Given the description of an element on the screen output the (x, y) to click on. 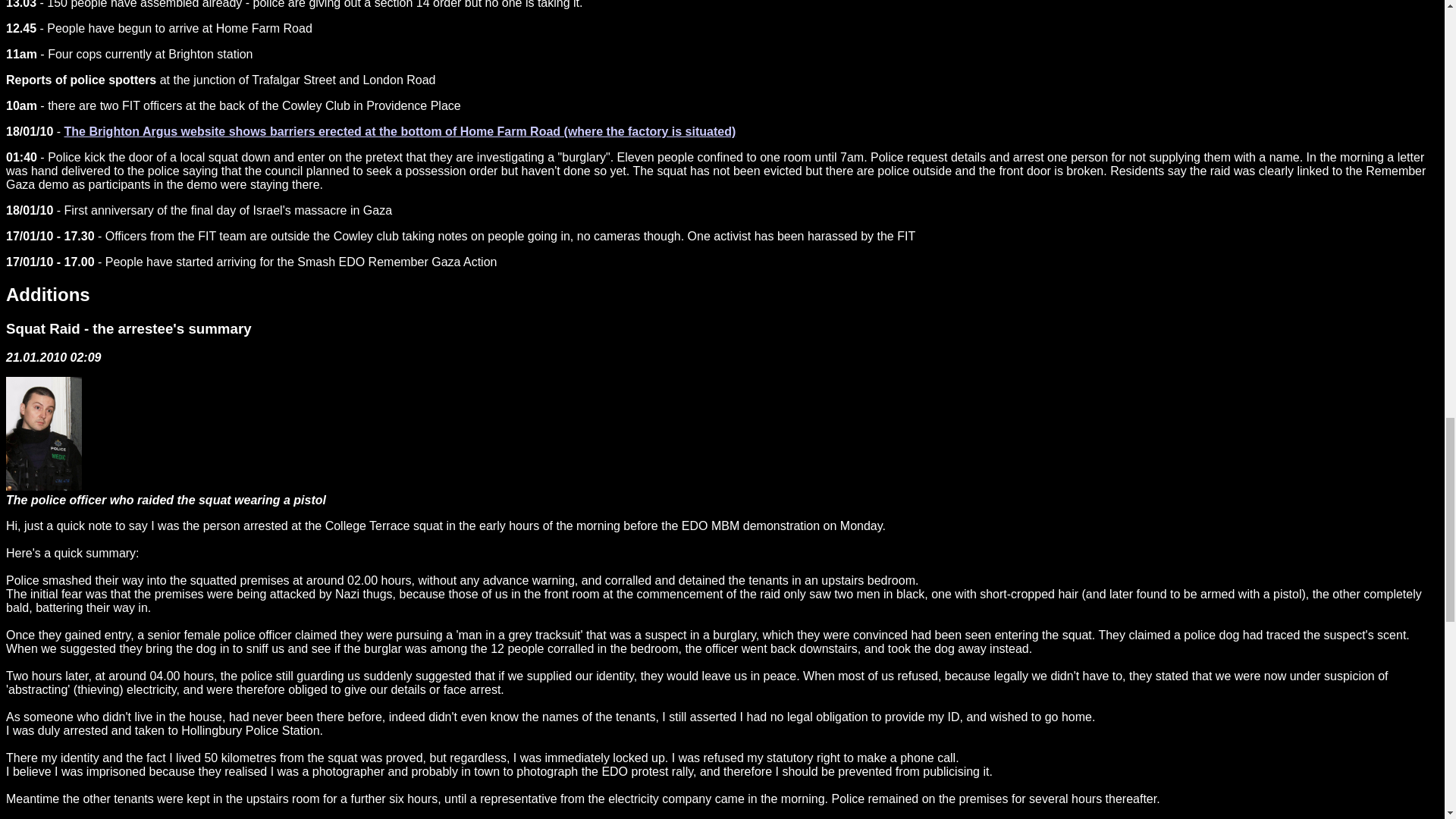
Squat Raid - the arrestee's summary (128, 328)
Additions (47, 294)
